Given the description of an element on the screen output the (x, y) to click on. 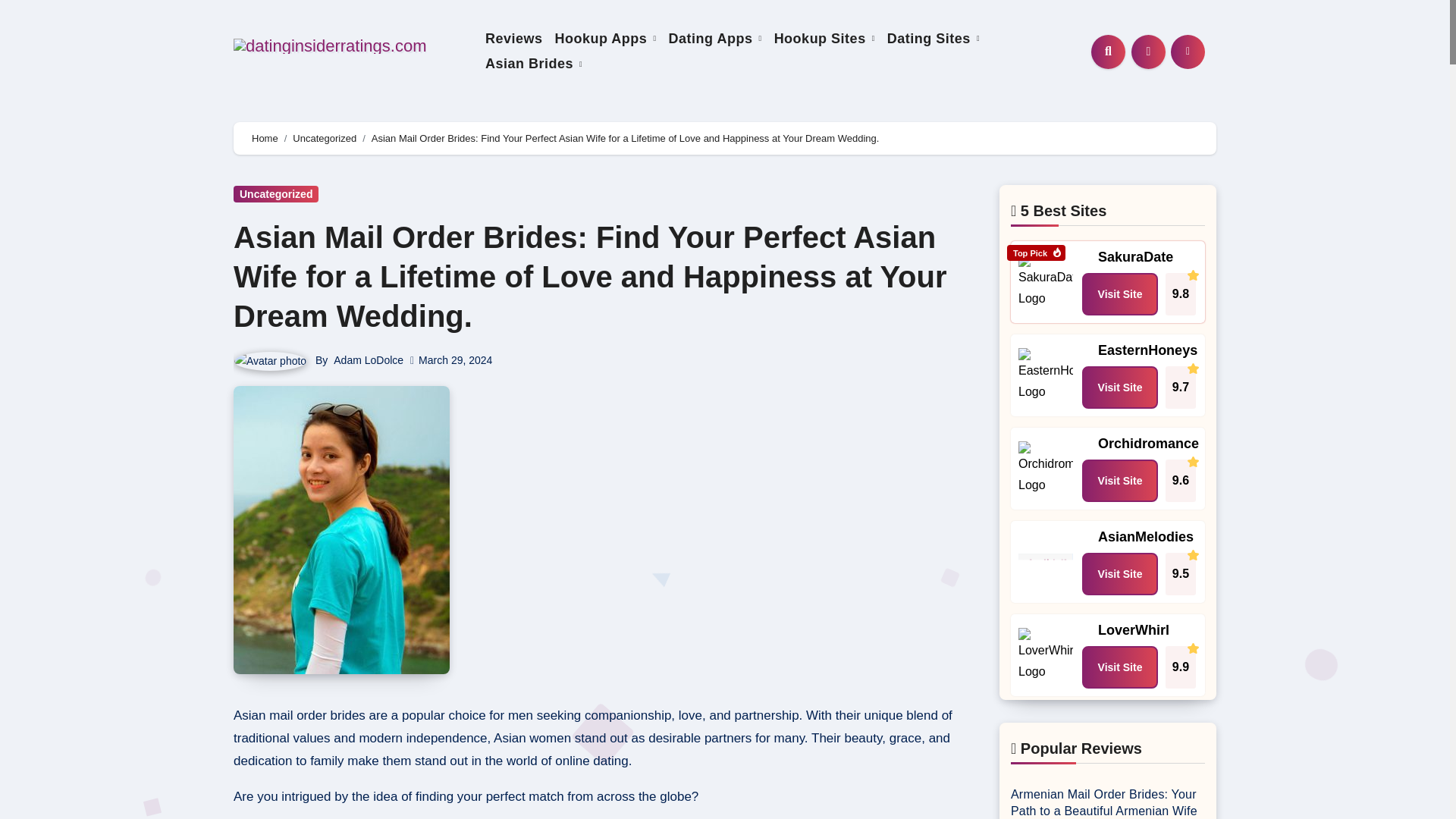
Asian Brides (533, 63)
Hookup Sites (824, 38)
Reviews (513, 38)
Hookup Sites (824, 38)
Hookup Apps (605, 38)
Dating Apps (715, 38)
Dating Apps (715, 38)
Reviews (513, 38)
Hookup Apps (605, 38)
Dating Sites (932, 38)
